Given the description of an element on the screen output the (x, y) to click on. 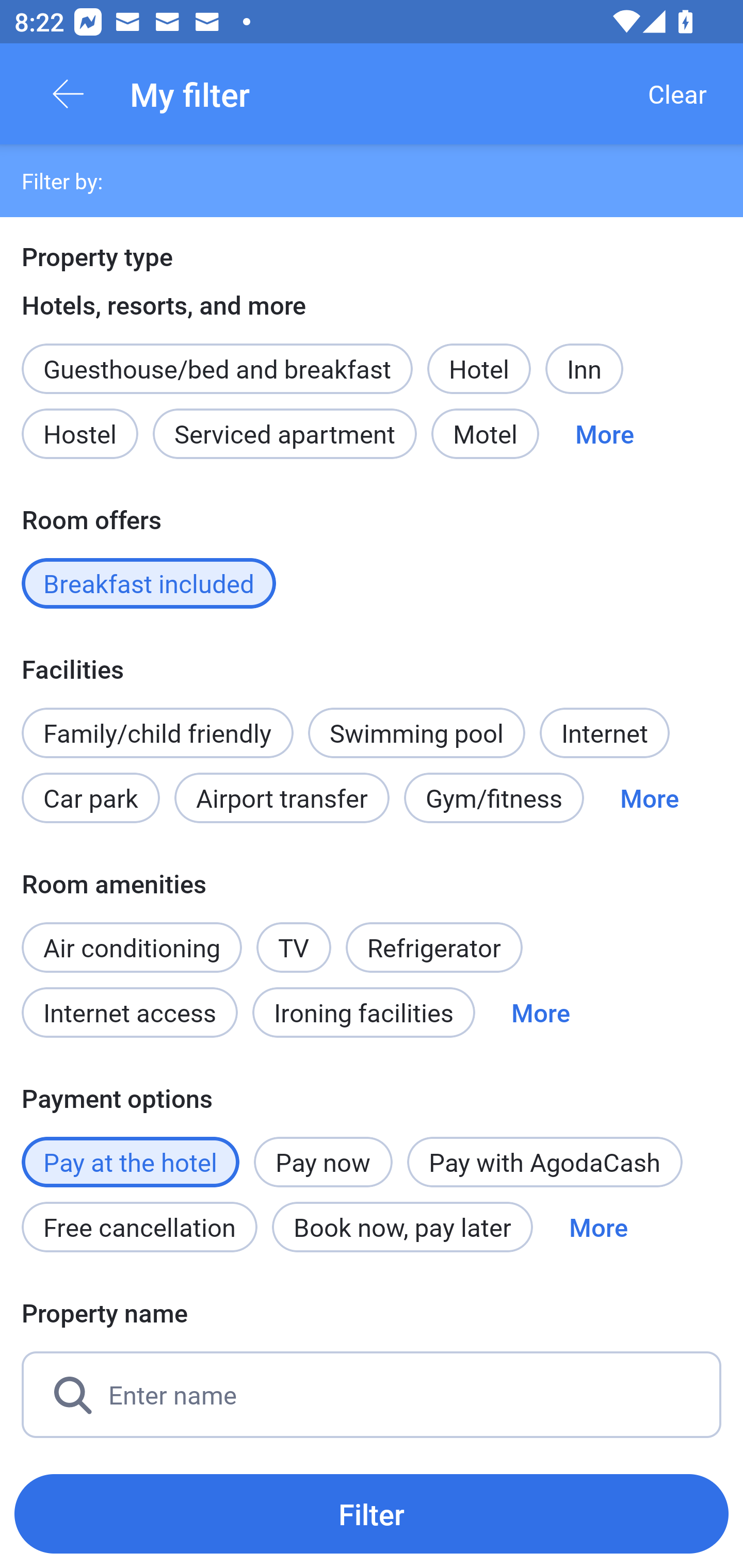
Clear (676, 93)
Guesthouse/bed and breakfast (217, 369)
Hotel (479, 369)
Inn (583, 369)
Hostel (79, 433)
Serviced apartment (284, 433)
Motel (485, 433)
More (604, 433)
Family/child friendly (157, 732)
Swimming pool (416, 732)
Internet (604, 732)
Car park (90, 798)
Airport transfer (281, 798)
Gym/fitness (493, 798)
More (649, 798)
Air conditioning (131, 947)
TV (294, 947)
Refrigerator (433, 947)
Internet access (129, 1012)
Ironing facilities (363, 1012)
More (540, 1012)
Pay now (323, 1161)
Pay with AgodaCash (544, 1161)
Free cancellation (139, 1226)
Book now, pay later (401, 1226)
More (598, 1226)
Enter name (371, 1394)
Filter (371, 1513)
